Given the description of an element on the screen output the (x, y) to click on. 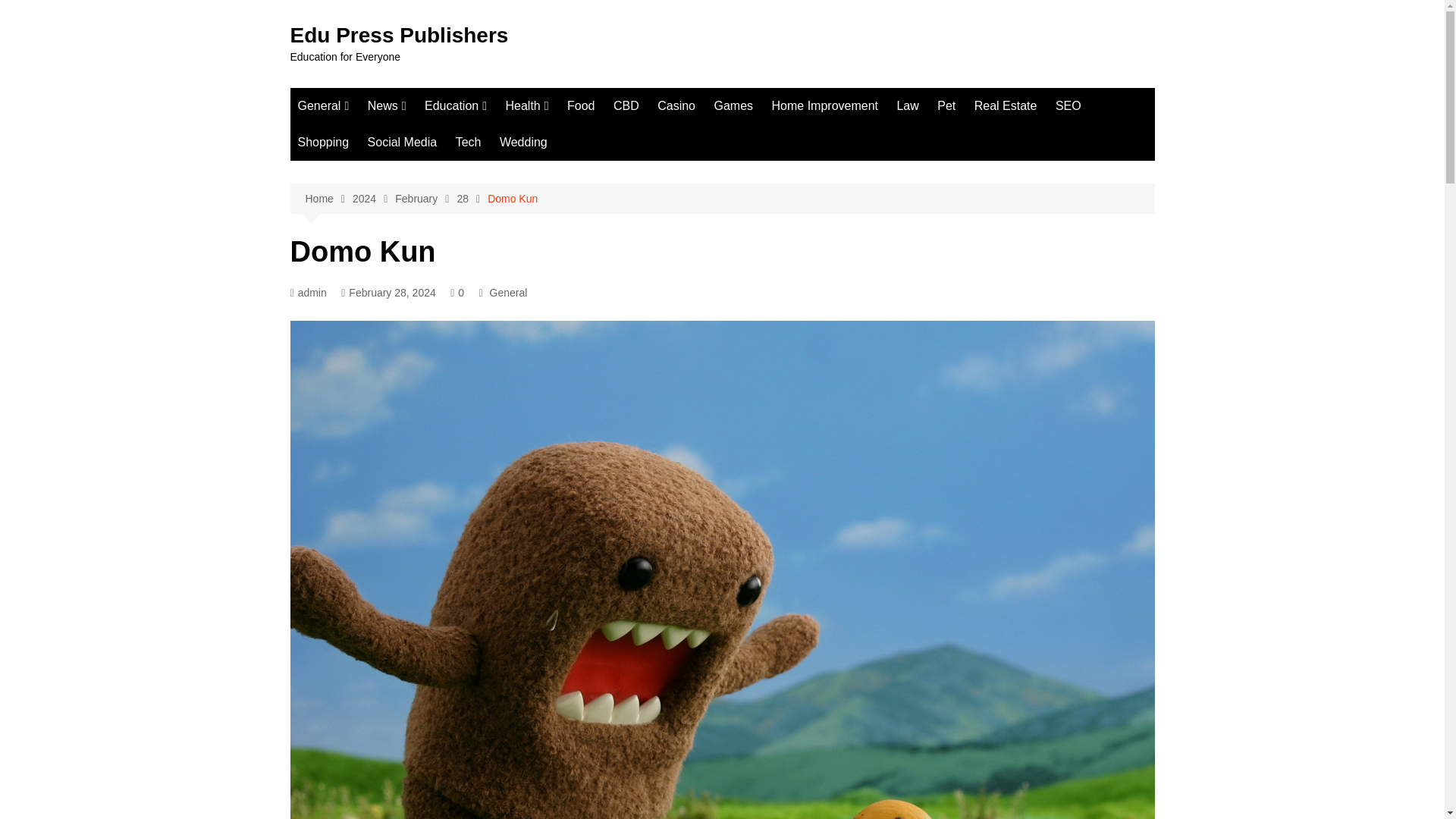
Law (907, 105)
Education (455, 105)
Beauty (373, 186)
Real Estate (1005, 105)
CBD (625, 105)
Yoga (580, 186)
Skin Care (580, 336)
Hair (610, 186)
Fitness (580, 136)
Auto (373, 161)
Movie (540, 211)
Allergy (580, 236)
Casino (676, 105)
employee (499, 136)
Business (373, 136)
